Given the description of an element on the screen output the (x, y) to click on. 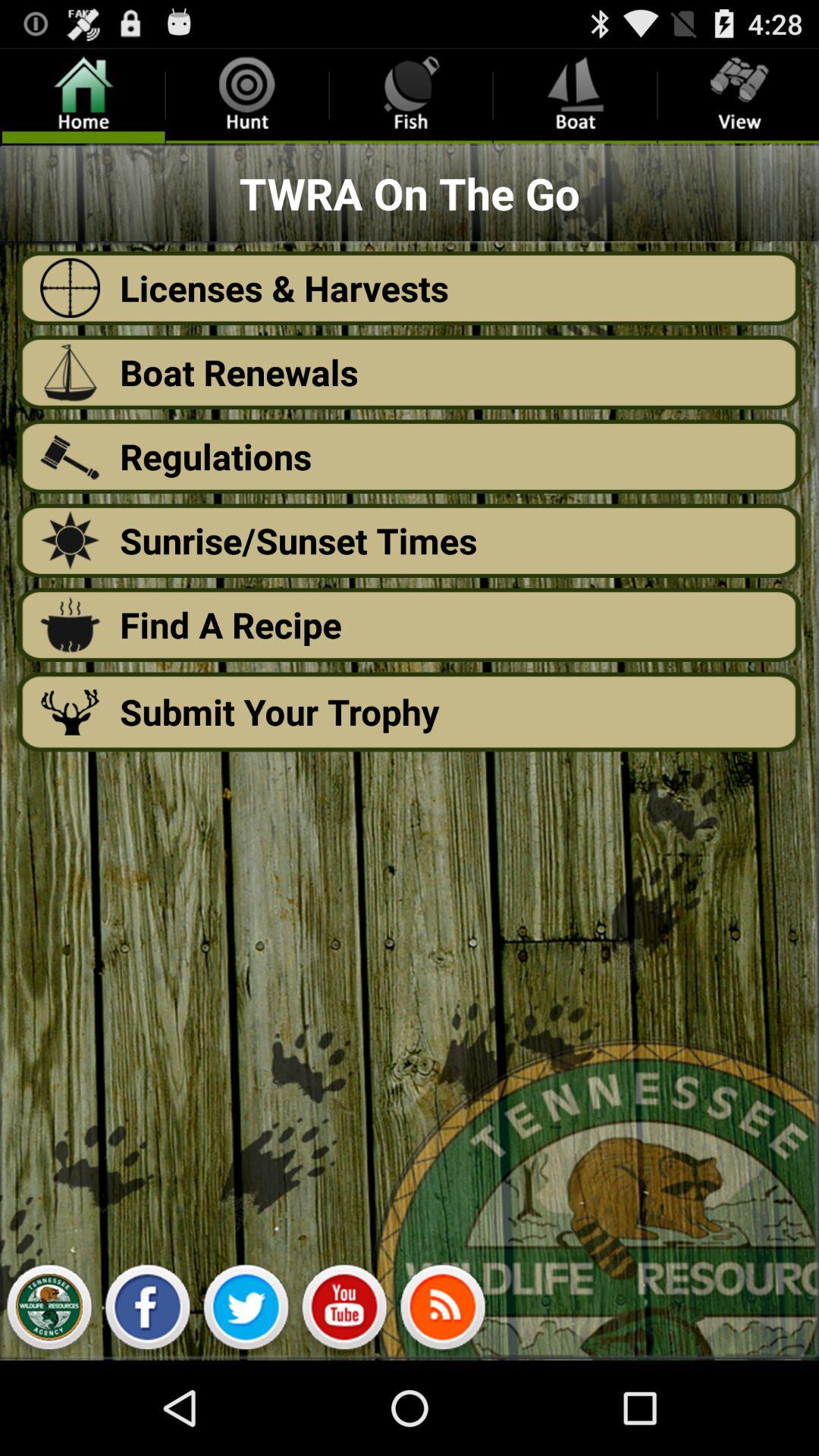
open item below submit your trophy icon (245, 1311)
